Given the description of an element on the screen output the (x, y) to click on. 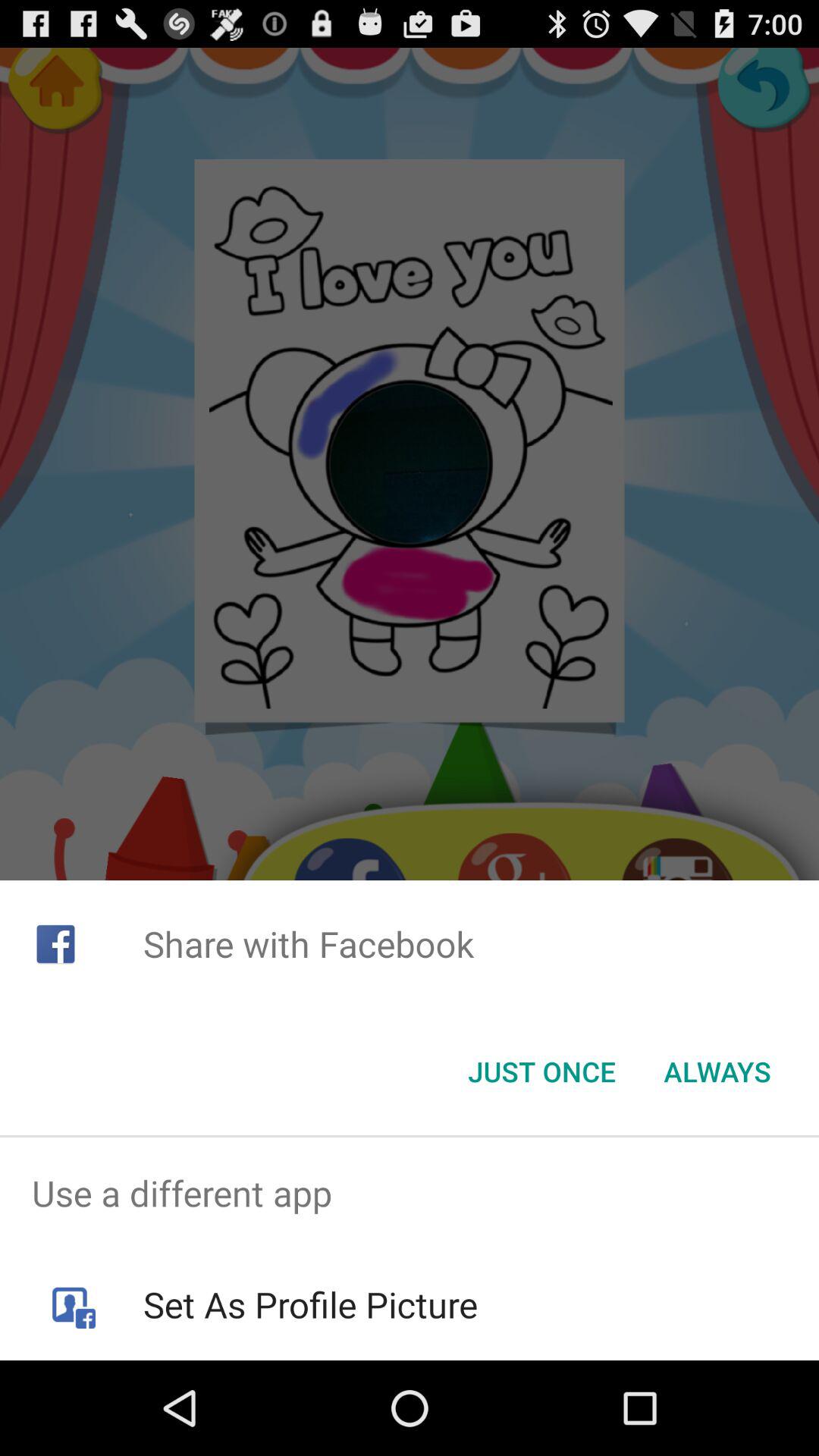
open the always item (717, 1071)
